Given the description of an element on the screen output the (x, y) to click on. 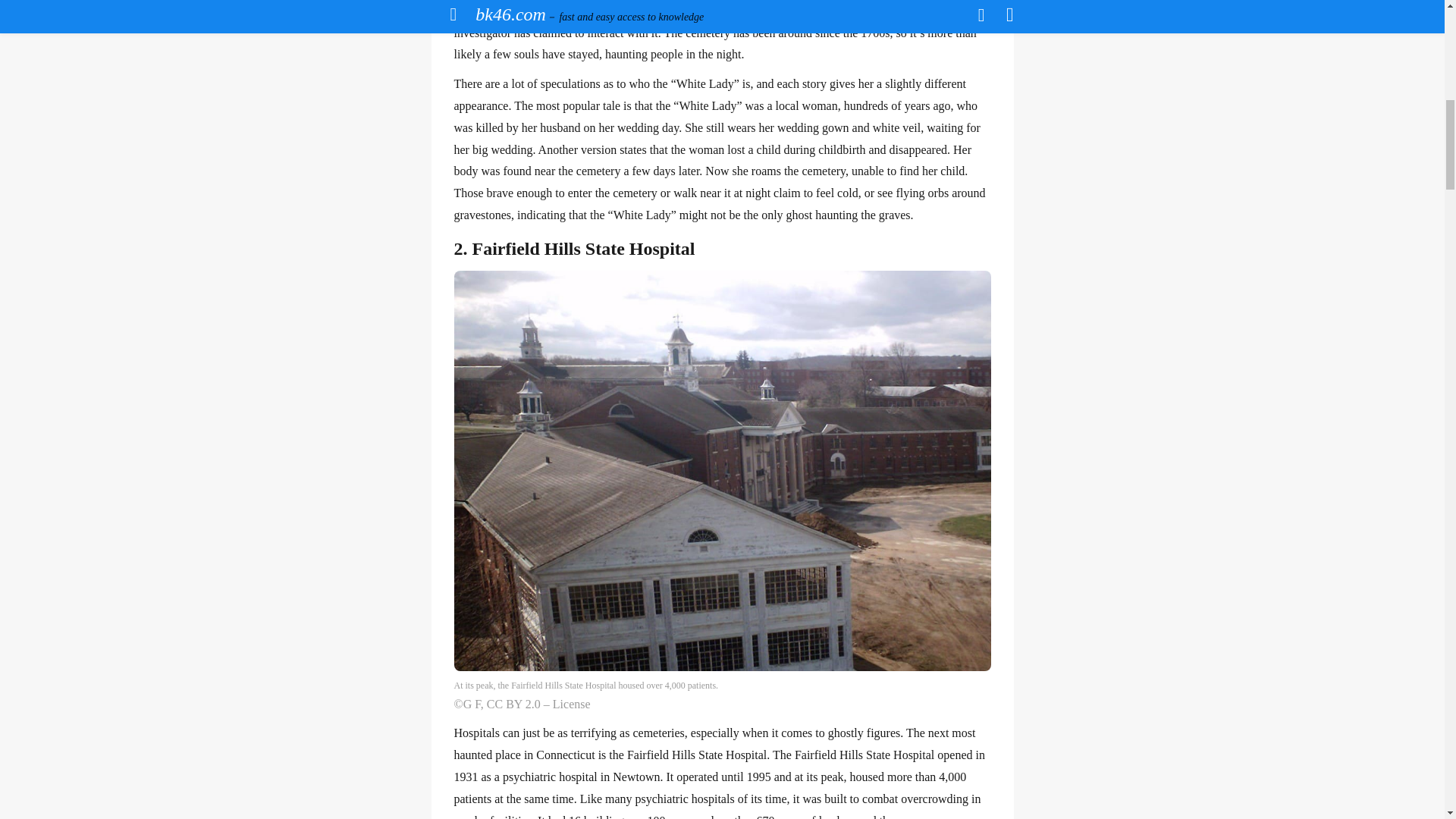
Search (934, 76)
